Given the description of an element on the screen output the (x, y) to click on. 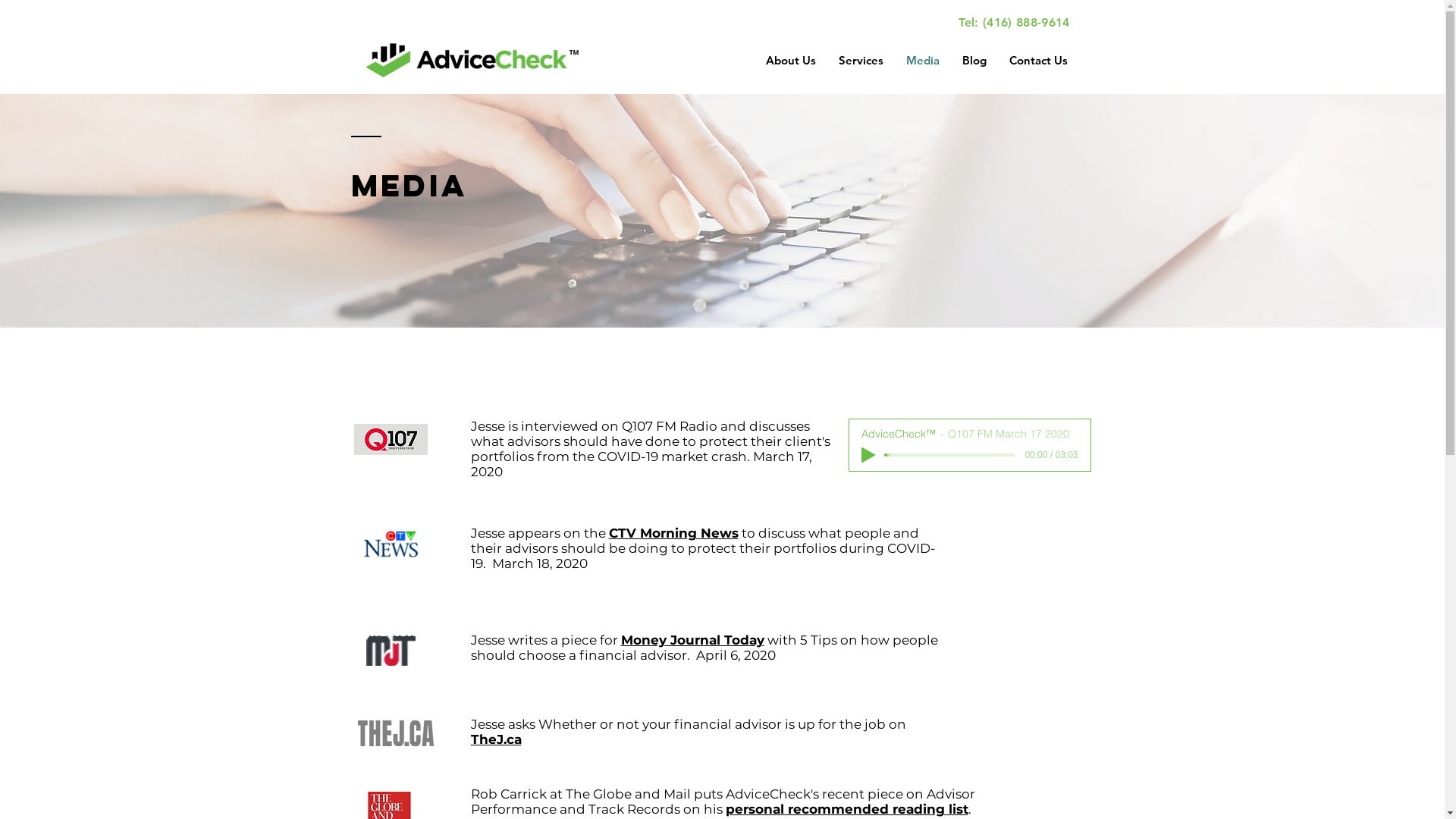
Contact Us Element type: text (1038, 60)
Media Element type: text (922, 60)
Services Element type: text (860, 60)
Money Journal Today Element type: text (691, 639)
About Us Element type: text (789, 60)
Blog Element type: text (973, 60)
personal recommended reading list Element type: text (845, 808)
CTV Morning News Element type: text (672, 532)
TheJ.ca Element type: text (495, 738)
